Given the description of an element on the screen output the (x, y) to click on. 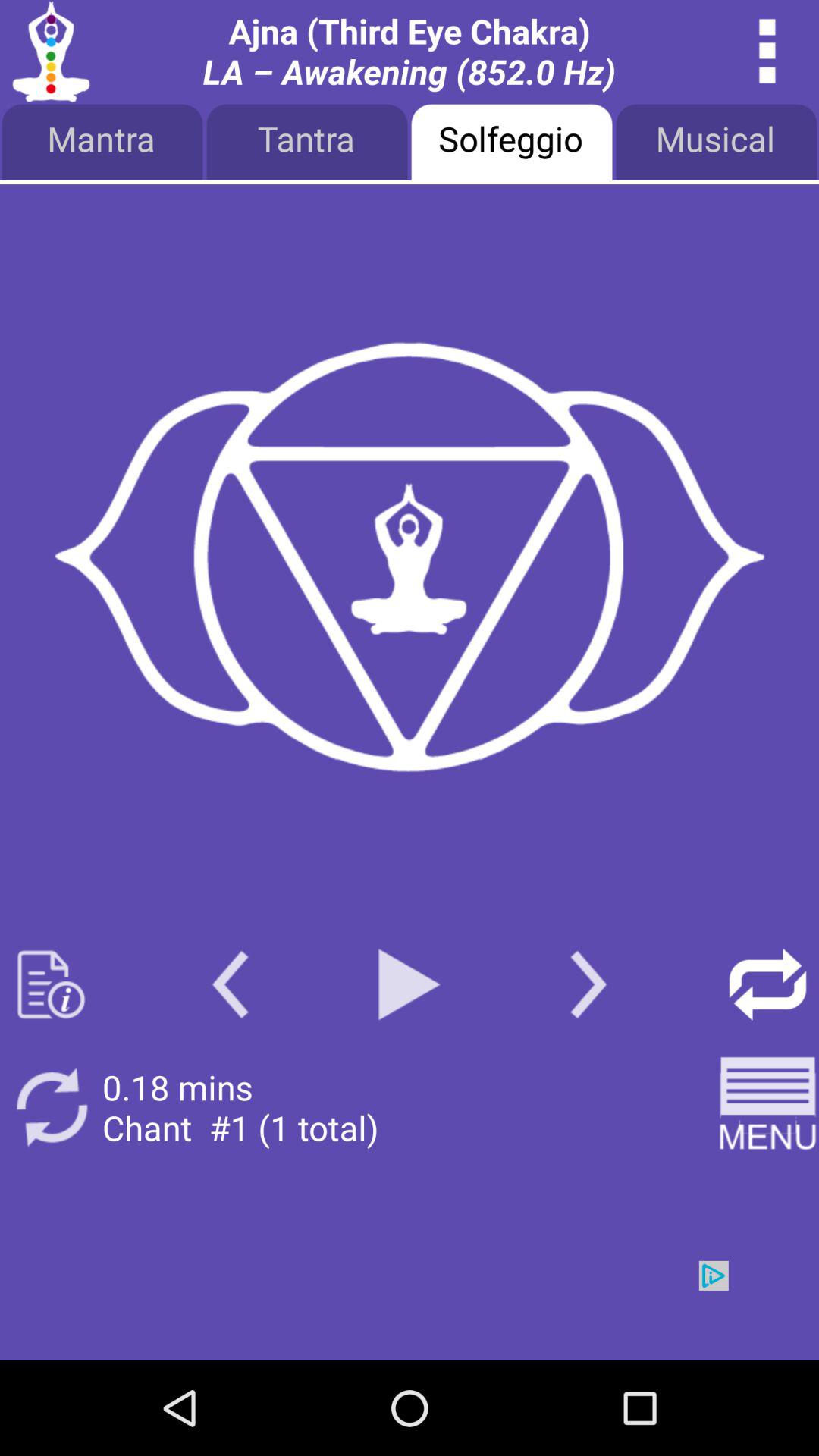
repeat song (767, 984)
